Given the description of an element on the screen output the (x, y) to click on. 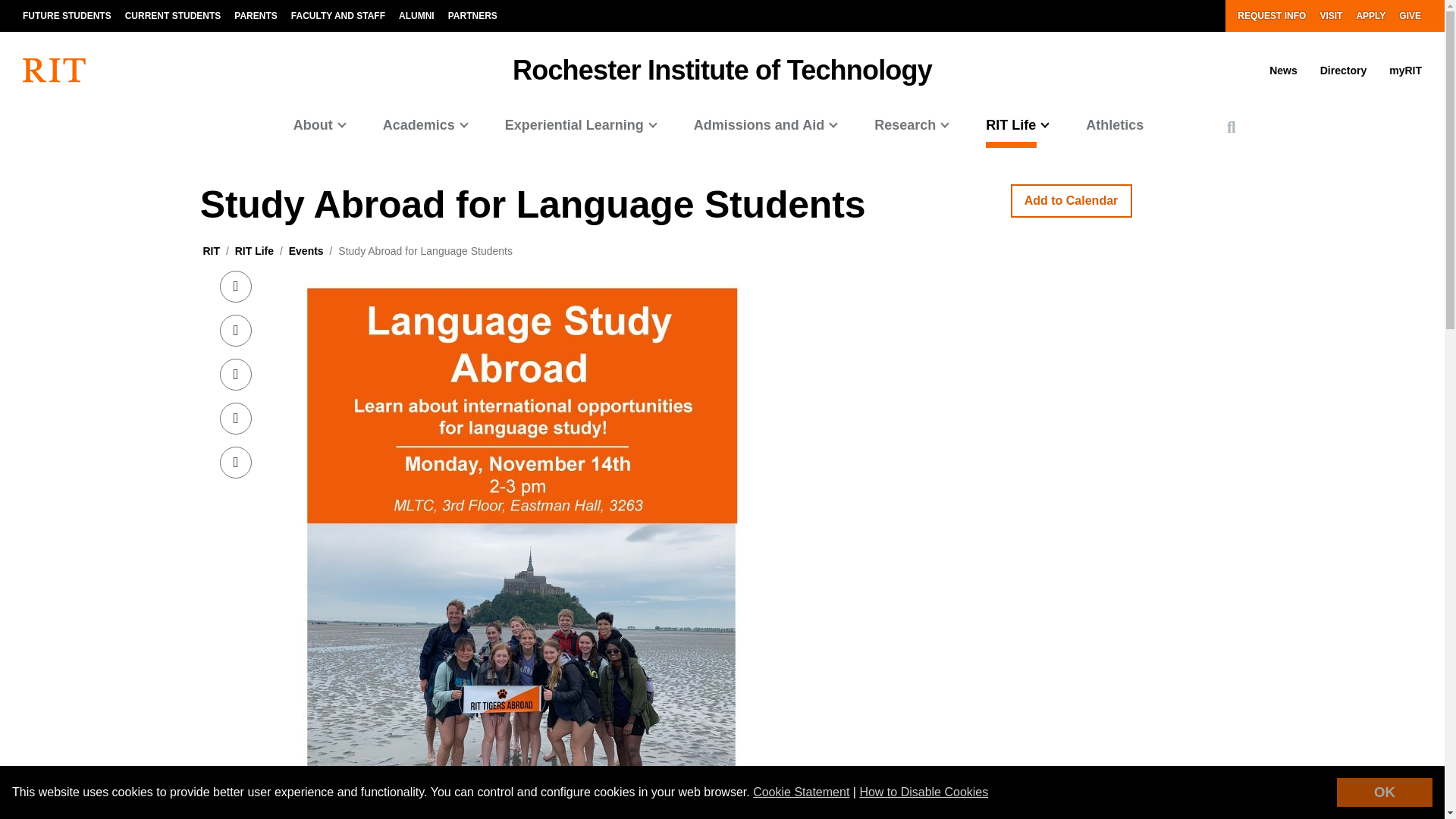
RIT logo (54, 70)
